Given the description of an element on the screen output the (x, y) to click on. 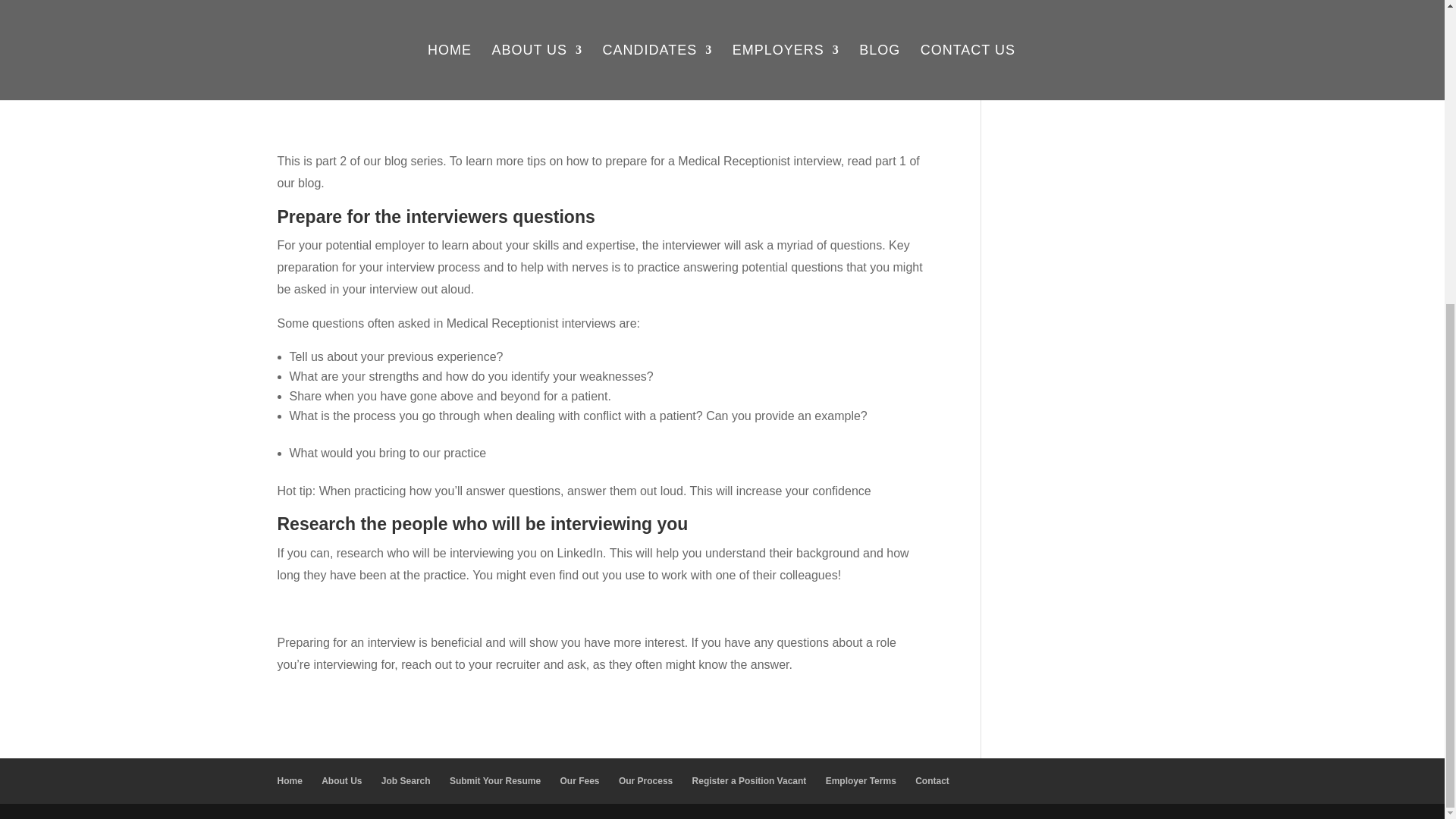
Contact (932, 780)
Submit Your Resume (494, 780)
About Us (341, 780)
Our Fees (578, 780)
Job Search (405, 780)
Register a Position Vacant (749, 780)
Our Process (645, 780)
Home (290, 780)
Employer Terms (860, 780)
